Given the description of an element on the screen output the (x, y) to click on. 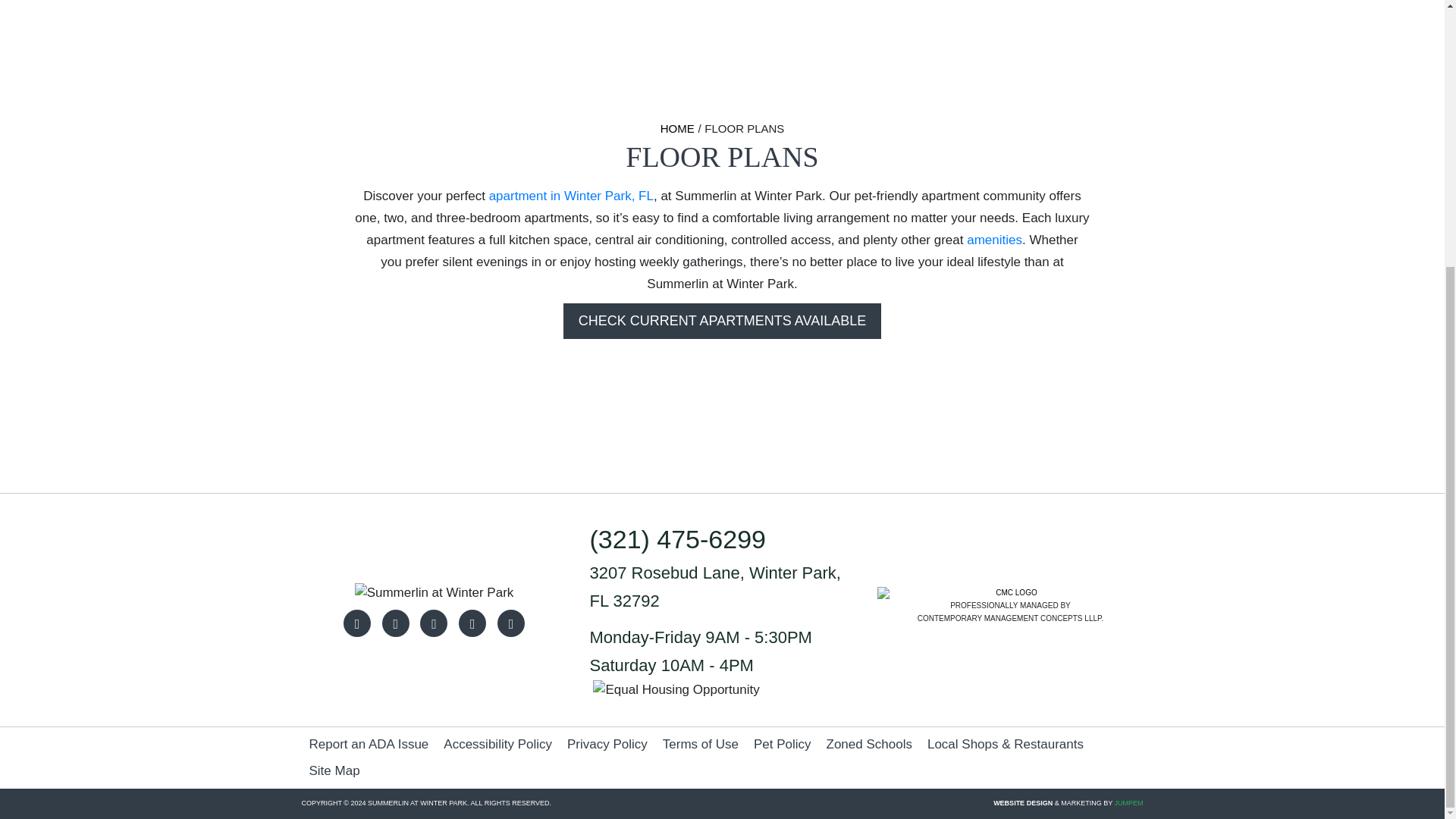
CHECK CURRENT APARTMENTS AVAILABLE (721, 321)
Instagram (395, 623)
apartment in Winter Park, FL (571, 196)
HOME (677, 128)
Twitter (433, 623)
Youtube (472, 623)
Google Review (510, 623)
Facebook (357, 623)
amenities (994, 239)
